Given the description of an element on the screen output the (x, y) to click on. 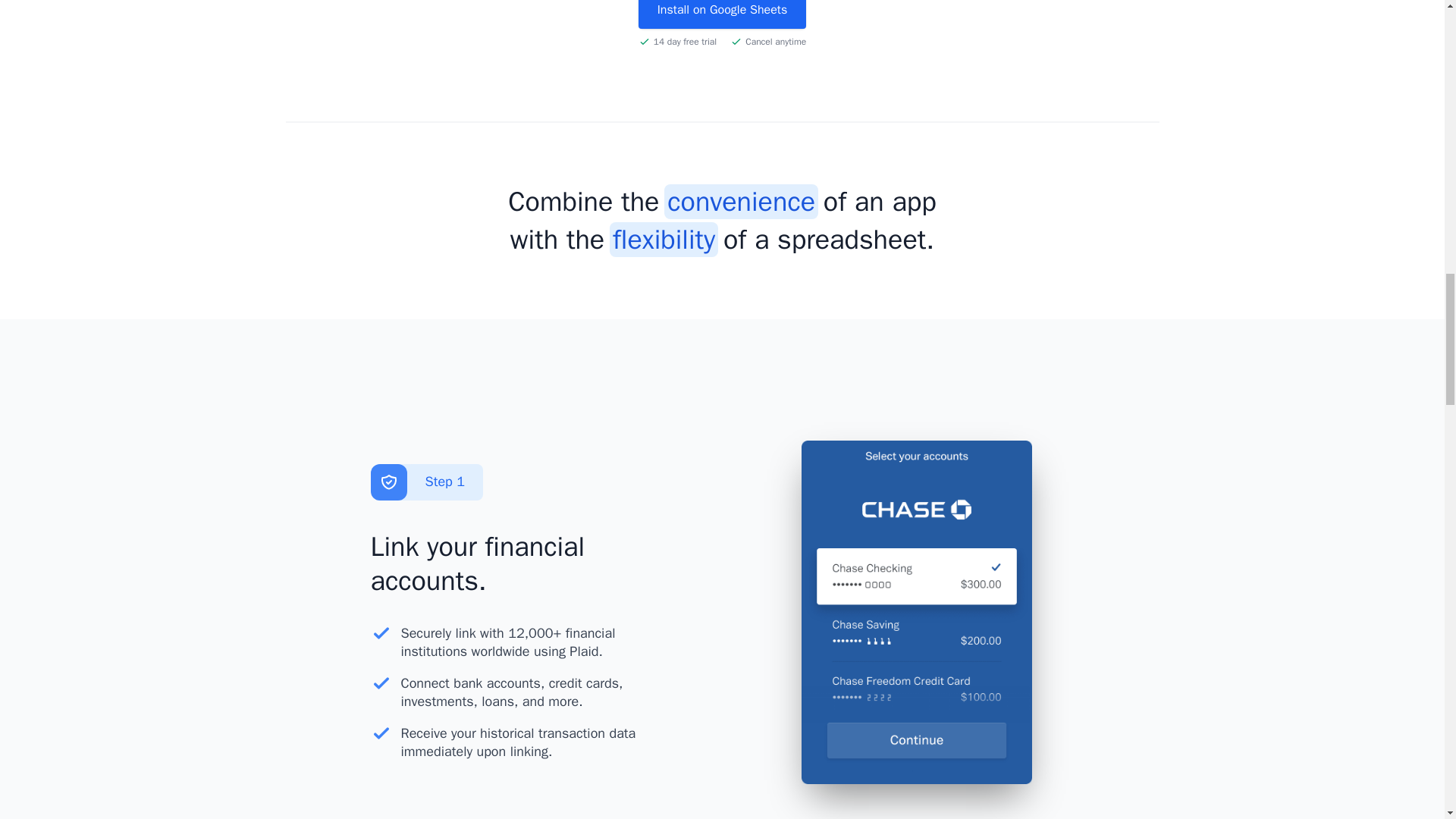
Install on Google Sheets (722, 14)
